Given the description of an element on the screen output the (x, y) to click on. 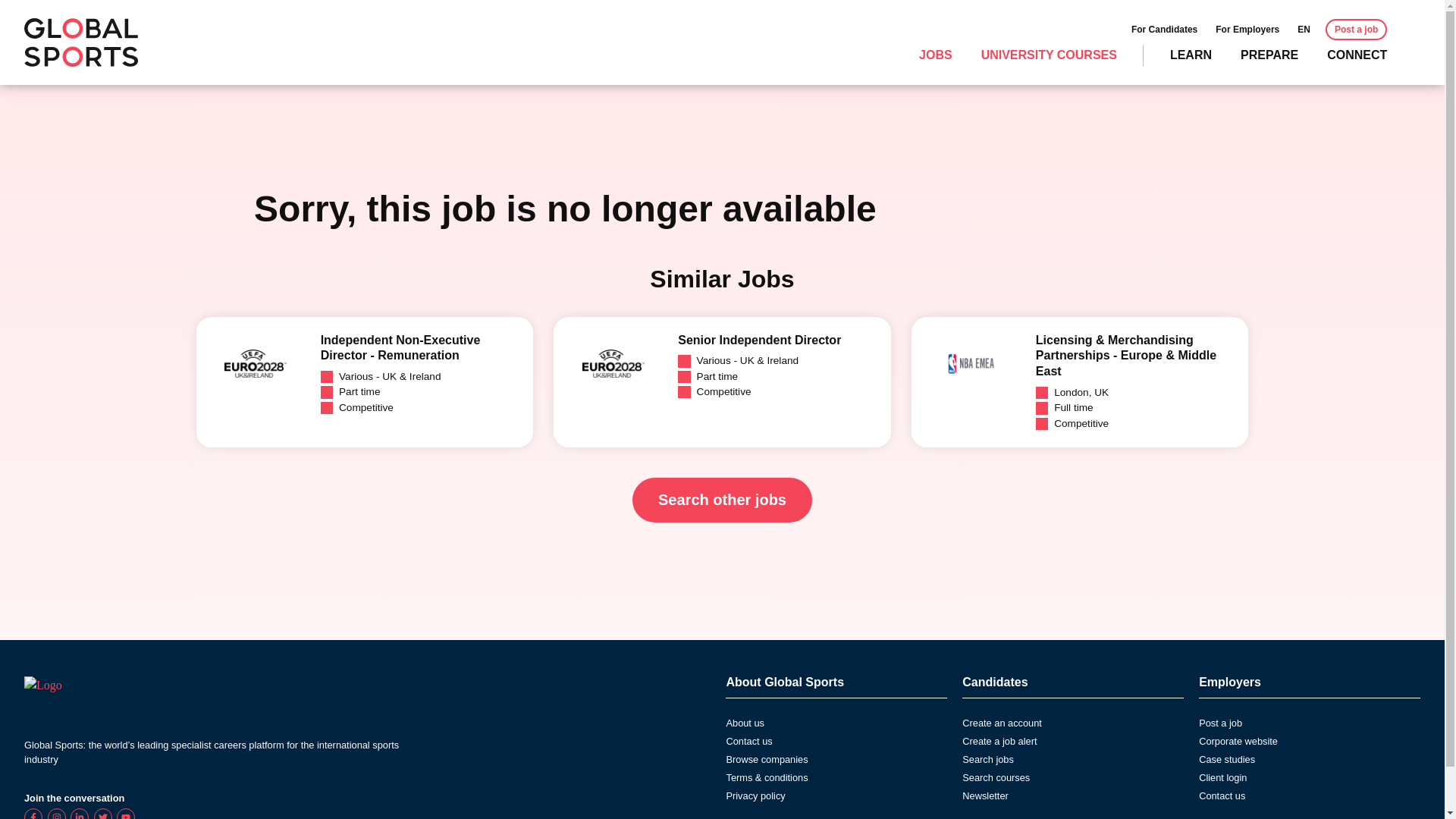
For Employers (1247, 29)
Select your language (1303, 29)
Support for sports job and course candidates. (1163, 29)
Search hundreds of current sports job vacancies. (935, 55)
Post a job (1355, 29)
PREPARE (1269, 55)
CONNECT (1356, 55)
Team up with us to advertise your latest roles. (1247, 29)
Post up your latest roles and access a vast pool of talent. (1355, 29)
For Candidates (1163, 29)
JOBS (935, 55)
Find events and your next sporting career connection. (1356, 55)
UNIVERSITY COURSES (1048, 55)
LEARN (1190, 55)
EN (1303, 29)
